Given the description of an element on the screen output the (x, y) to click on. 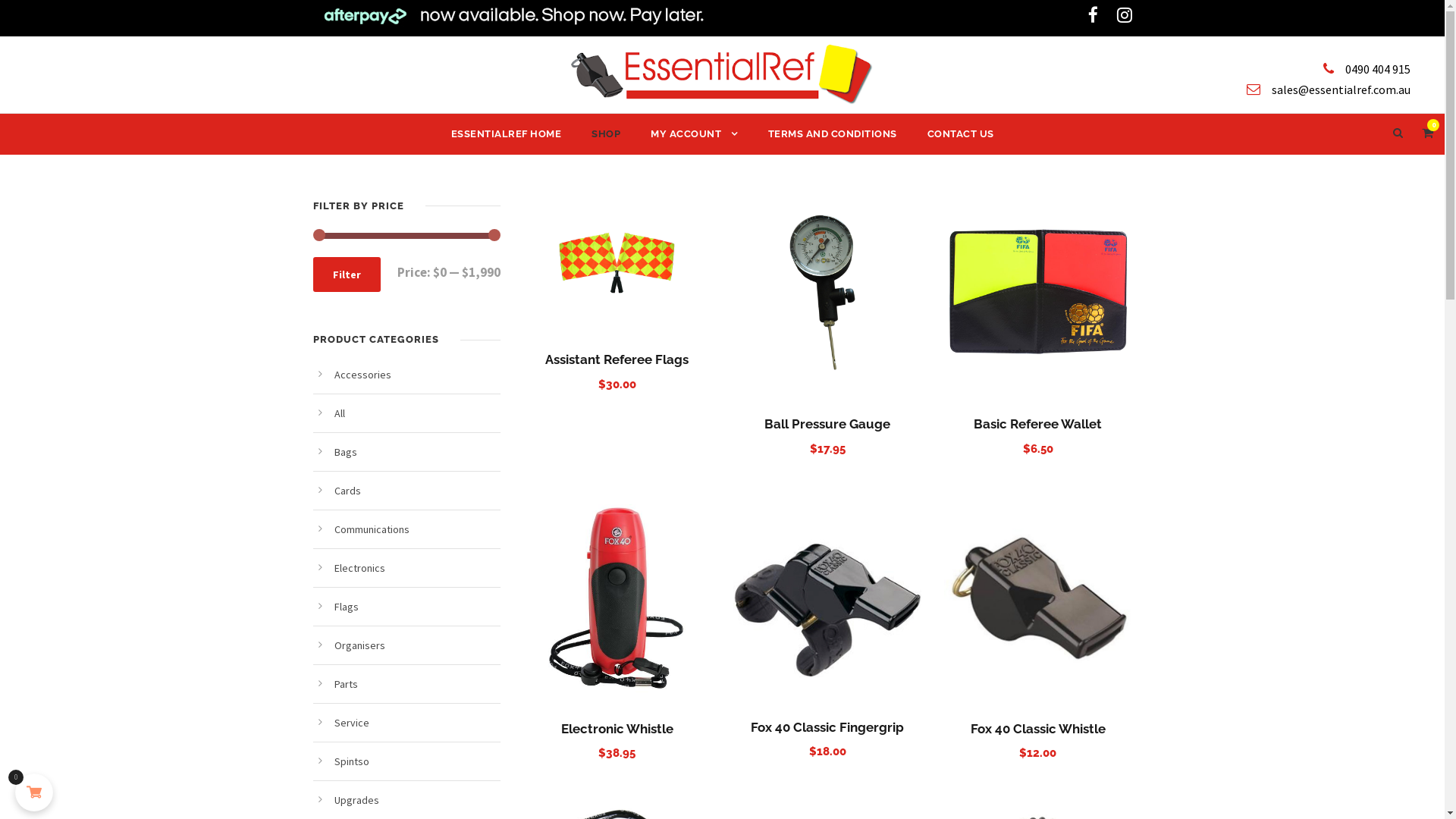
instagram Element type: hover (1123, 14)
PayPal Element type: hover (745, 714)
ESSENTIALREF HOME Element type: text (505, 139)
Flags Element type: text (345, 606)
Communications Element type: text (370, 529)
TERMS AND CONDITIONS Element type: text (831, 139)
Organisers Element type: text (358, 645)
Electronic Whistle Element type: text (617, 728)
Service Element type: text (350, 722)
Ball Pressure Gauge Element type: text (827, 423)
Fox40 Classic Element type: hover (1037, 597)
Diamond Flags Element type: hover (616, 261)
MasterCard Element type: hover (698, 714)
MY ACCOUNT Element type: text (693, 139)
Bags Element type: text (344, 451)
All Element type: text (338, 413)
Accessories Element type: text (361, 374)
CONTACT US Element type: text (959, 139)
Filter Element type: text (345, 274)
Parts Element type: text (345, 683)
Basic Wallet Element type: hover (1037, 293)
Essential Ref Sports Supplies Perth Element type: hover (721, 74)
Bank Transfer Element type: hover (651, 714)
Fox 40 Classic Whistle Element type: text (1037, 728)
Fox40 Classic Finger Grip Element type: hover (826, 597)
Basic Referee Wallet Element type: text (1037, 423)
SHOP Element type: text (605, 139)
facebook Element type: hover (1092, 14)
Electronics Element type: text (358, 567)
Spintso Element type: text (350, 761)
Upgrades Element type: text (355, 799)
Pressure Gauge Element type: hover (826, 293)
Visa Element type: hover (792, 714)
Assistant Referee Flags Element type: text (616, 359)
Fox 40 Classic Fingergrip Element type: text (826, 726)
Cards Element type: text (346, 490)
